Given the description of an element on the screen output the (x, y) to click on. 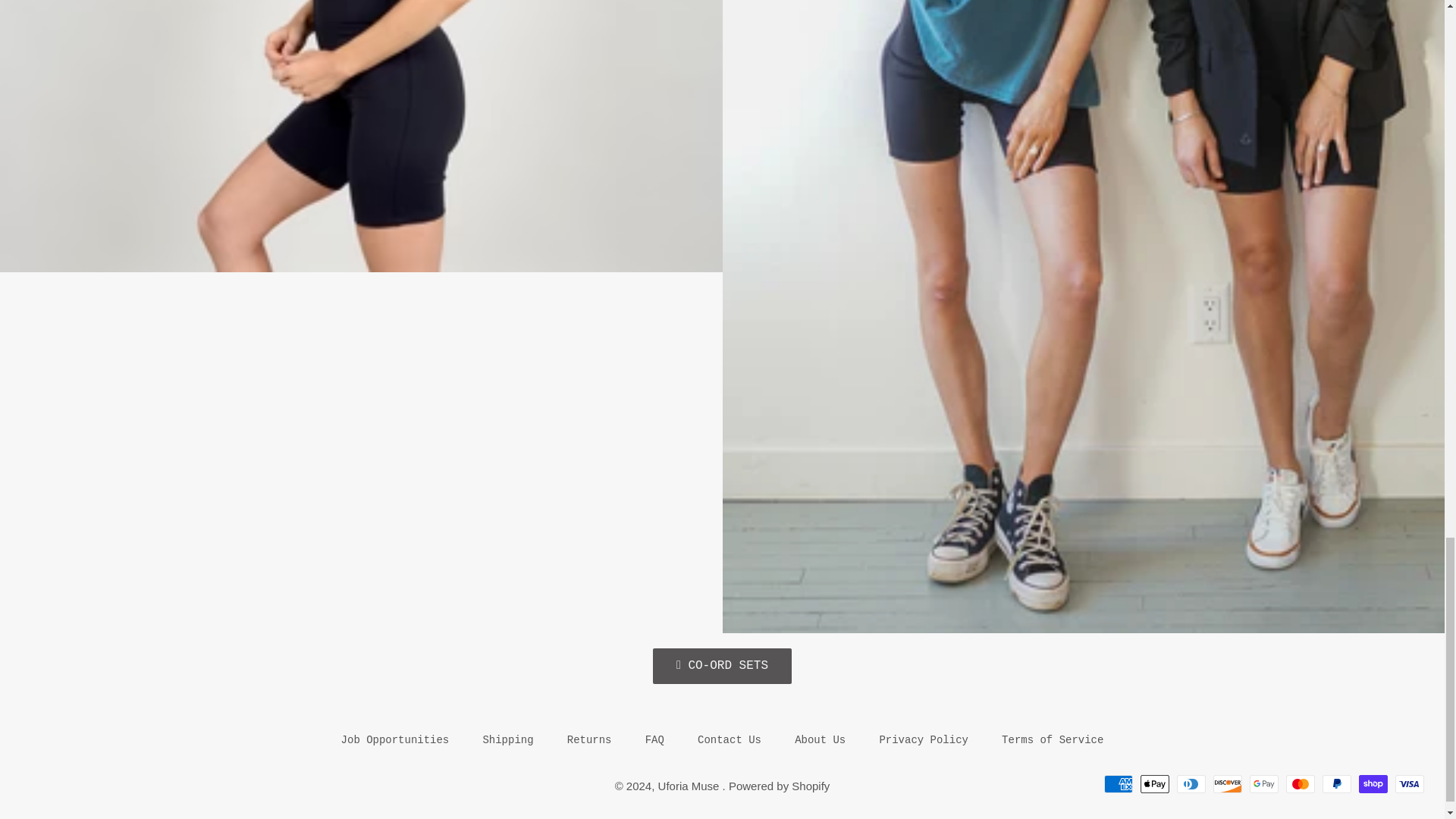
Visa (1408, 783)
Diners Club (1190, 783)
Shop Pay (1372, 783)
Discover (1226, 783)
Google Pay (1263, 783)
American Express (1117, 783)
Apple Pay (1154, 783)
Mastercard (1299, 783)
PayPal (1336, 783)
